Given the description of an element on the screen output the (x, y) to click on. 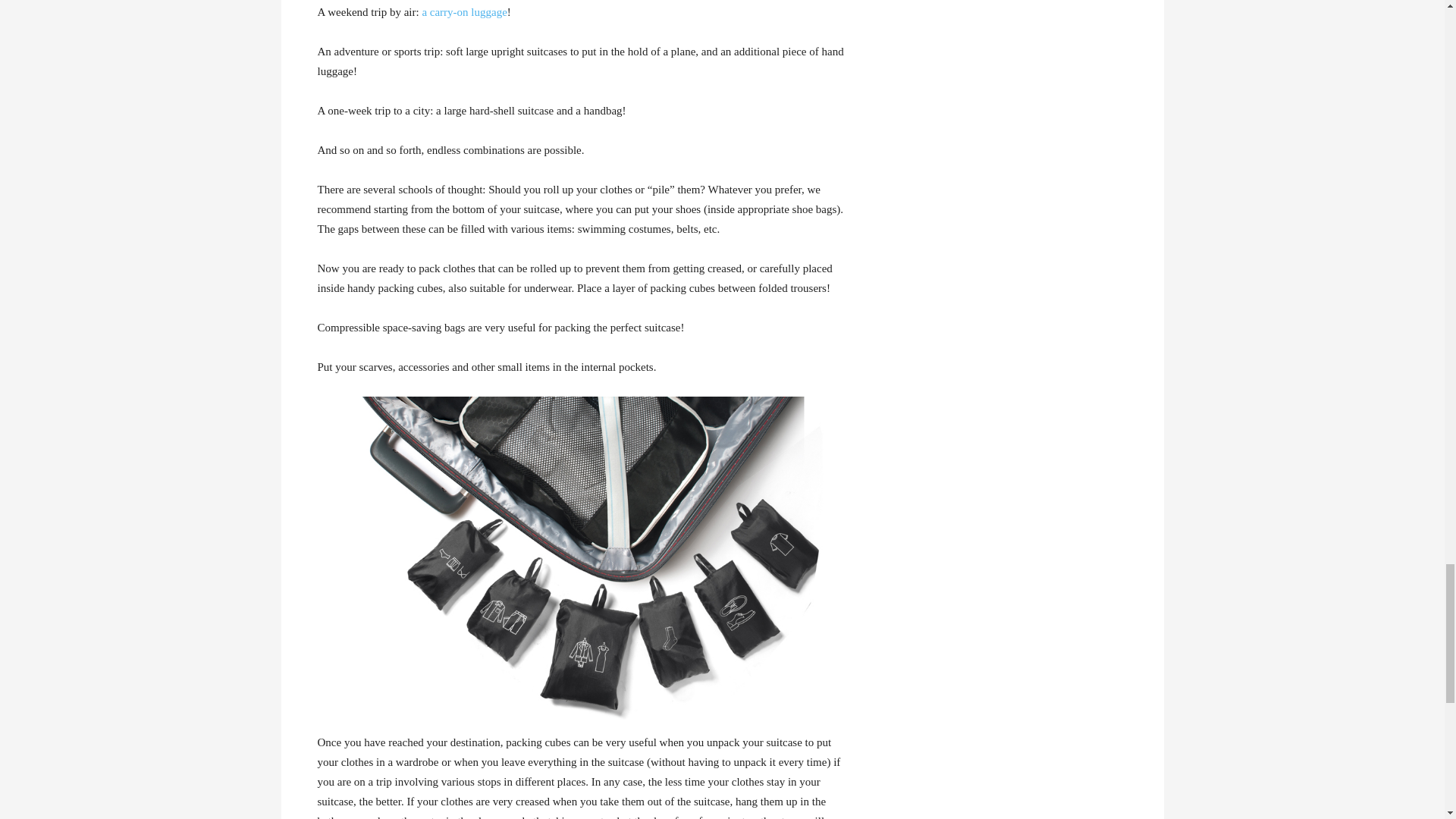
a carry-on luggage (464, 11)
